Given the description of an element on the screen output the (x, y) to click on. 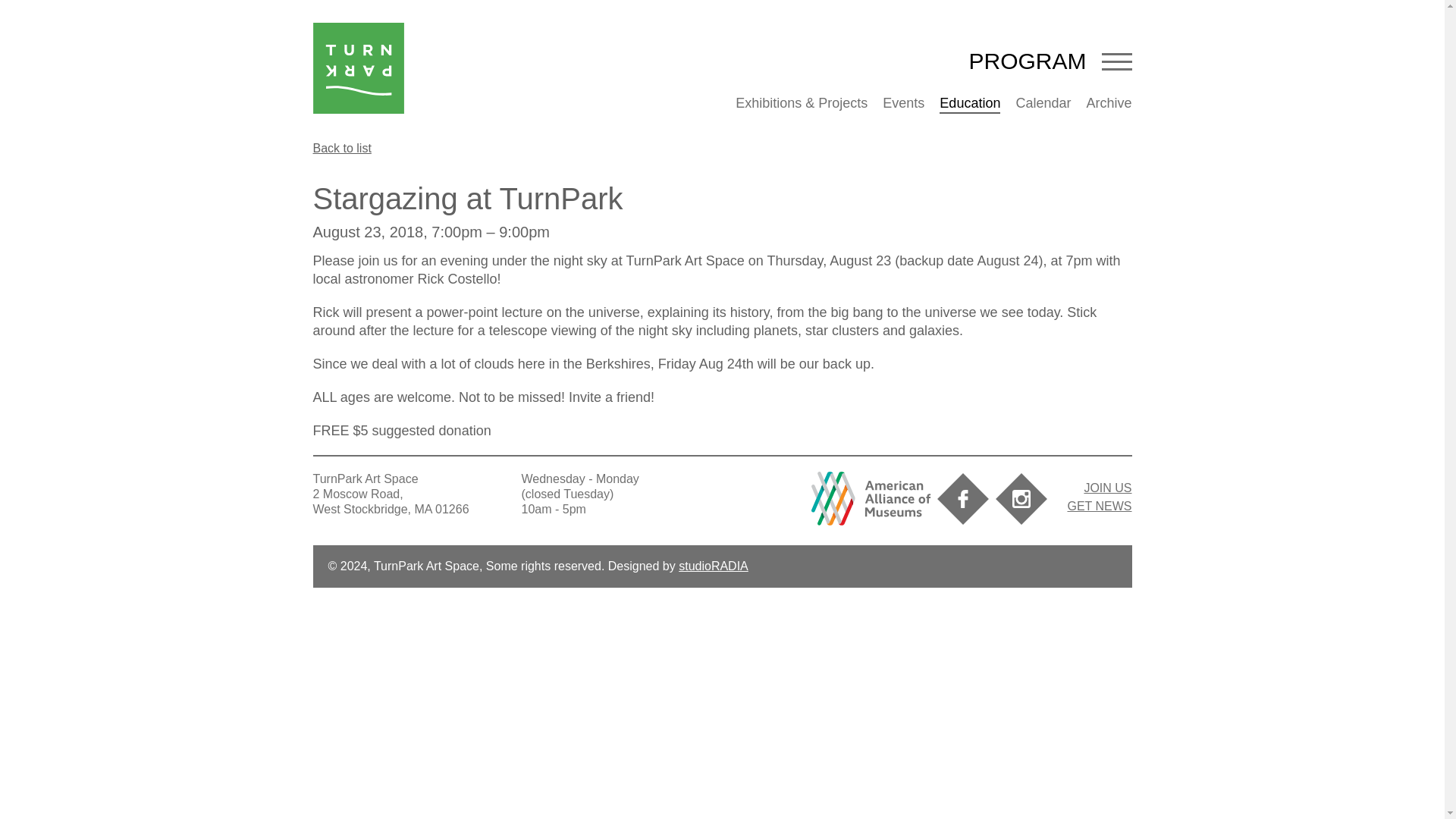
Back to list (342, 148)
Events (903, 103)
Archive (1108, 103)
Calendar (1042, 103)
PROGRAM (1027, 60)
Education (969, 103)
JOIN US (1107, 487)
studioRADIA (713, 565)
